Given the description of an element on the screen output the (x, y) to click on. 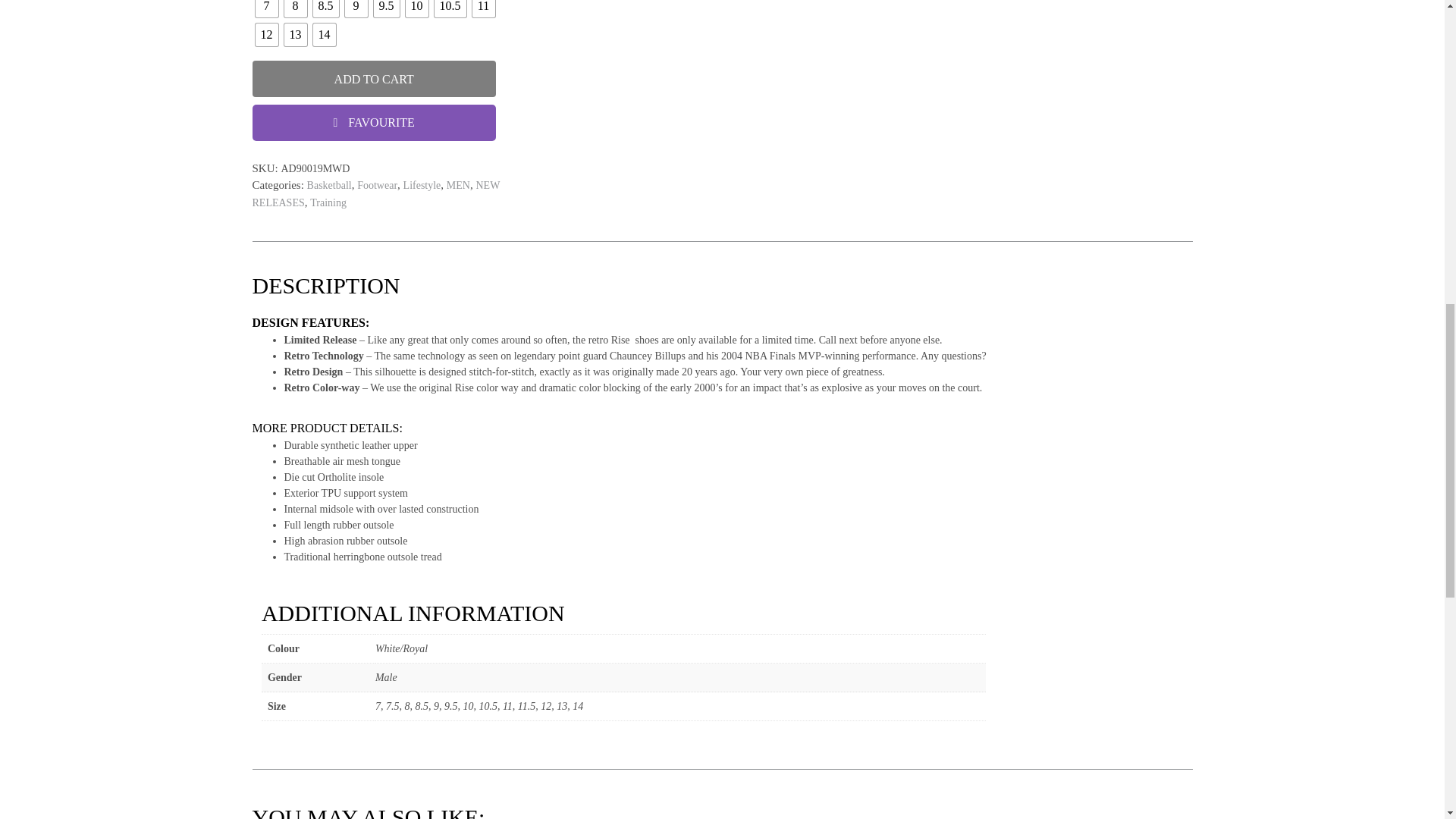
MEN (458, 184)
13 (294, 34)
7 (266, 8)
Footwear (376, 184)
9 (354, 8)
8.5 (325, 8)
Basketball (329, 184)
ADD TO CART (373, 78)
11 (483, 8)
10 (416, 8)
